Given the description of an element on the screen output the (x, y) to click on. 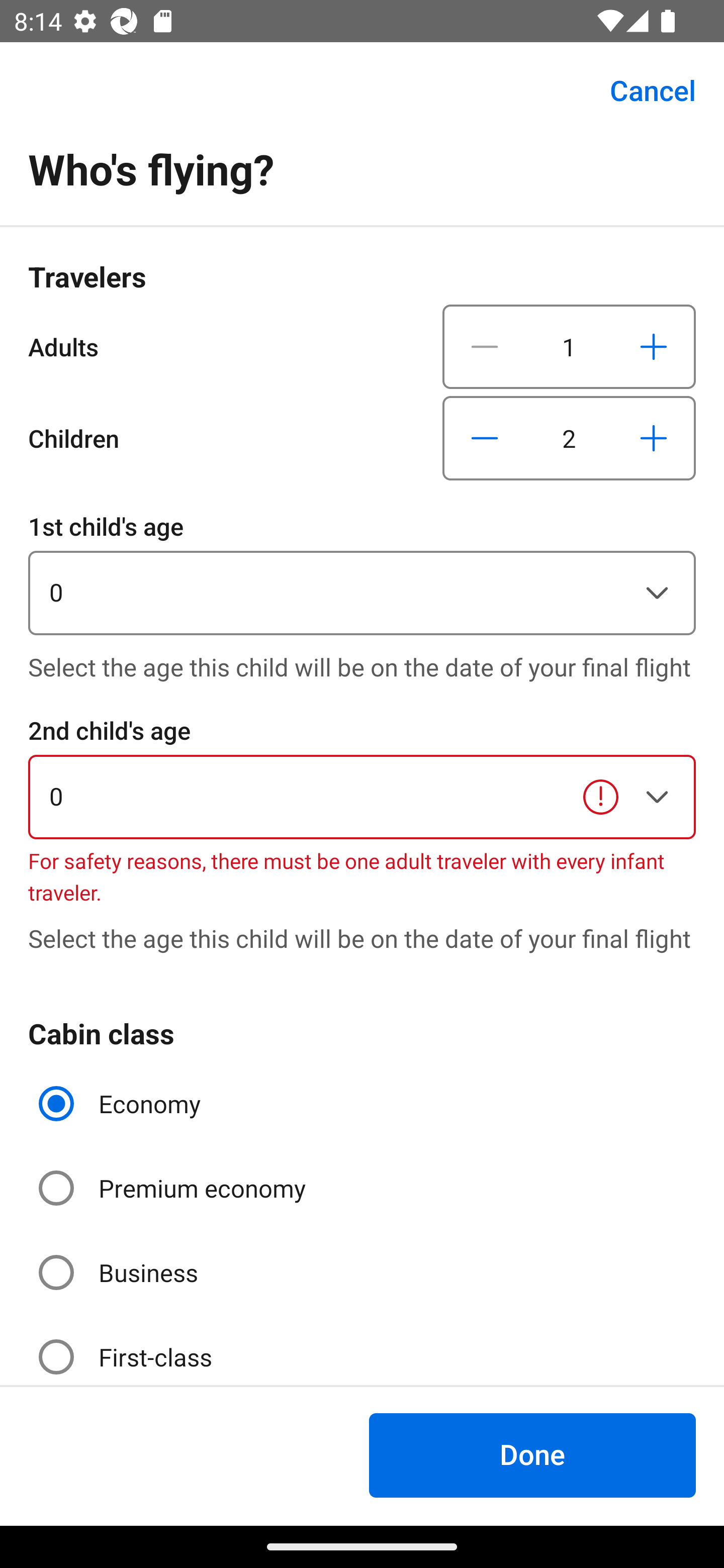
Cancel (641, 90)
Decrease (484, 346)
Increase (653, 346)
Decrease (484, 437)
Increase (653, 437)
1st child's age
 1st child's age 0 (361, 571)
Economy (121, 1103)
Premium economy (174, 1188)
Business (120, 1271)
First-class (126, 1348)
Done (532, 1454)
